Given the description of an element on the screen output the (x, y) to click on. 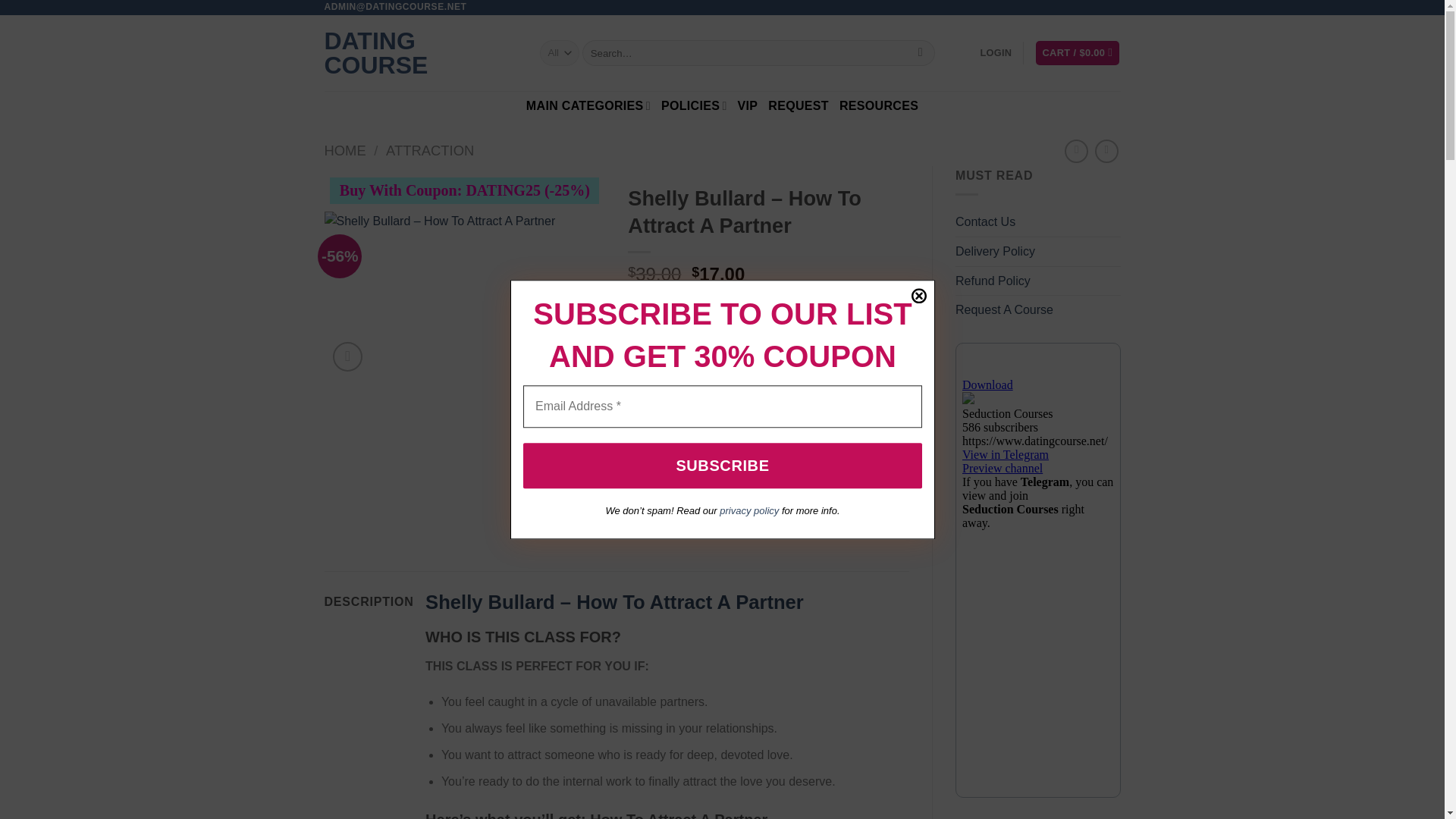
Cart (1077, 53)
Refund Policy (992, 280)
POLICIES (693, 105)
REQUEST (798, 105)
LOGIN (995, 52)
ATTRACTION (429, 150)
Search (920, 53)
Dating Course - Upgrade Your Sexual Life (420, 52)
Qty (660, 342)
SUBSCRIBE (721, 465)
Delivery Policy (995, 251)
Contact Us (984, 222)
1 (660, 342)
RESOURCES (879, 105)
MAIN CATEGORIES (587, 105)
